Given the description of an element on the screen output the (x, y) to click on. 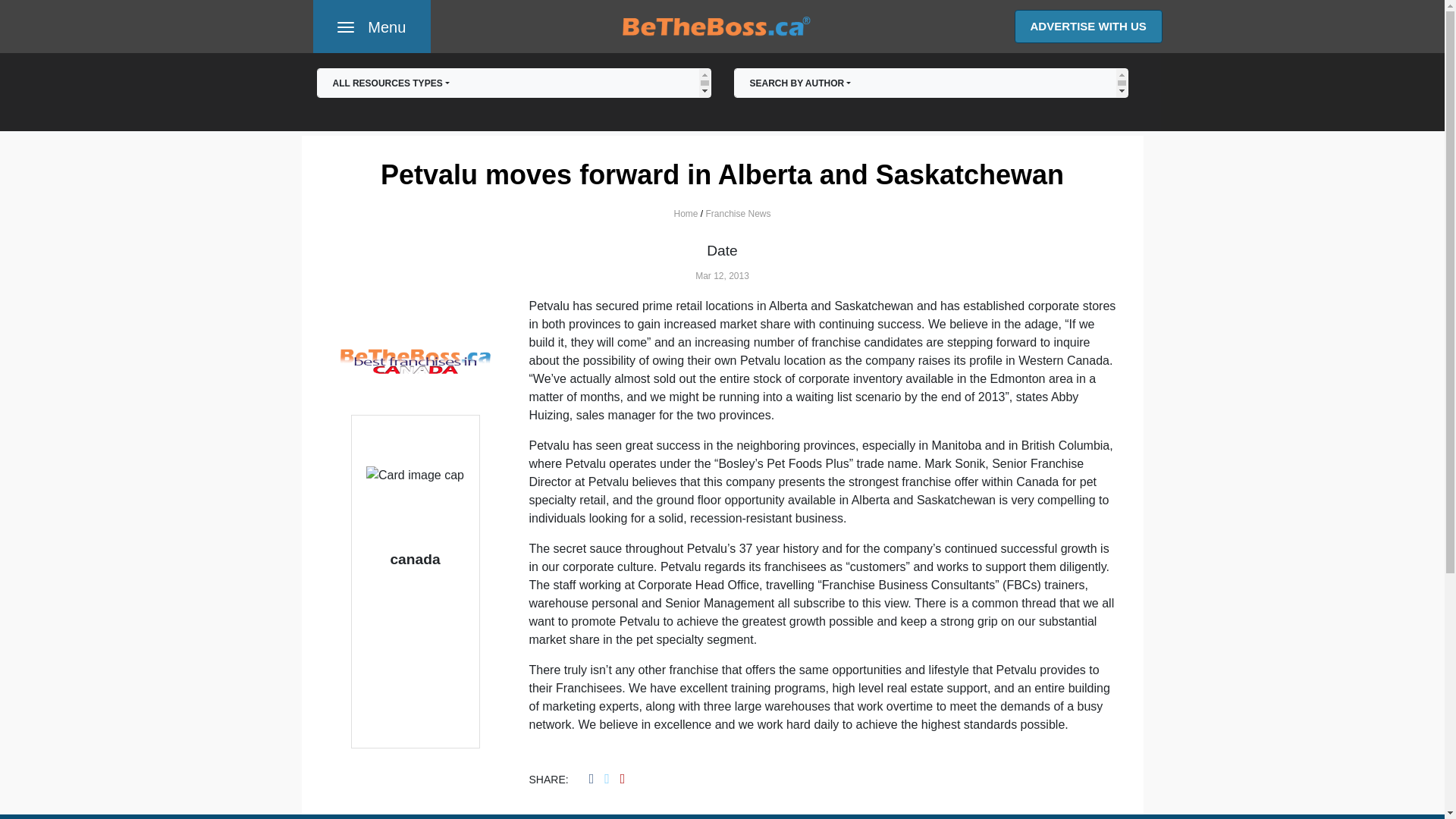
ADVERTISE WITH US (513, 91)
